Given the description of an element on the screen output the (x, y) to click on. 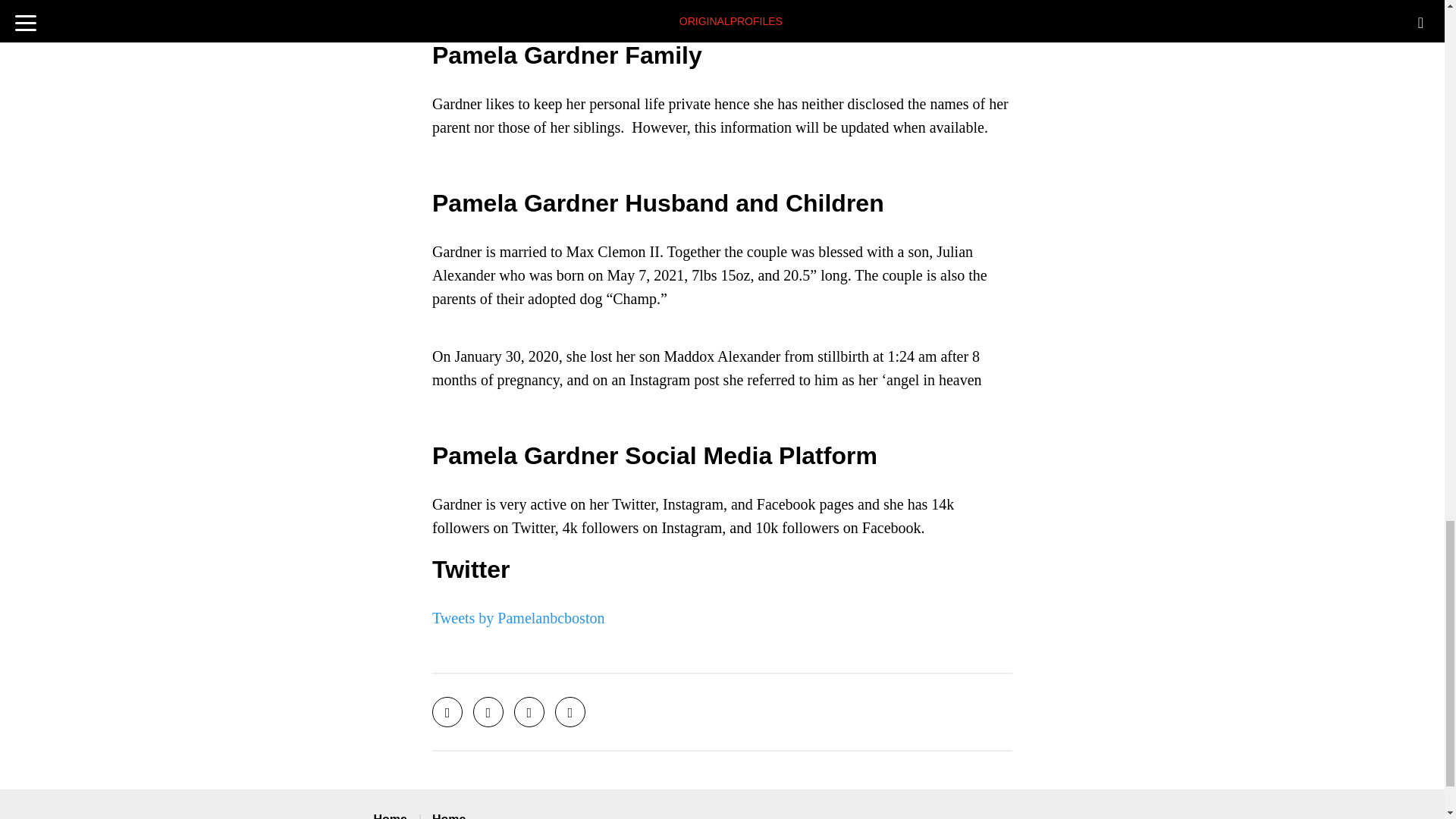
Tweets by Pamelanbcboston (518, 617)
